Given the description of an element on the screen output the (x, y) to click on. 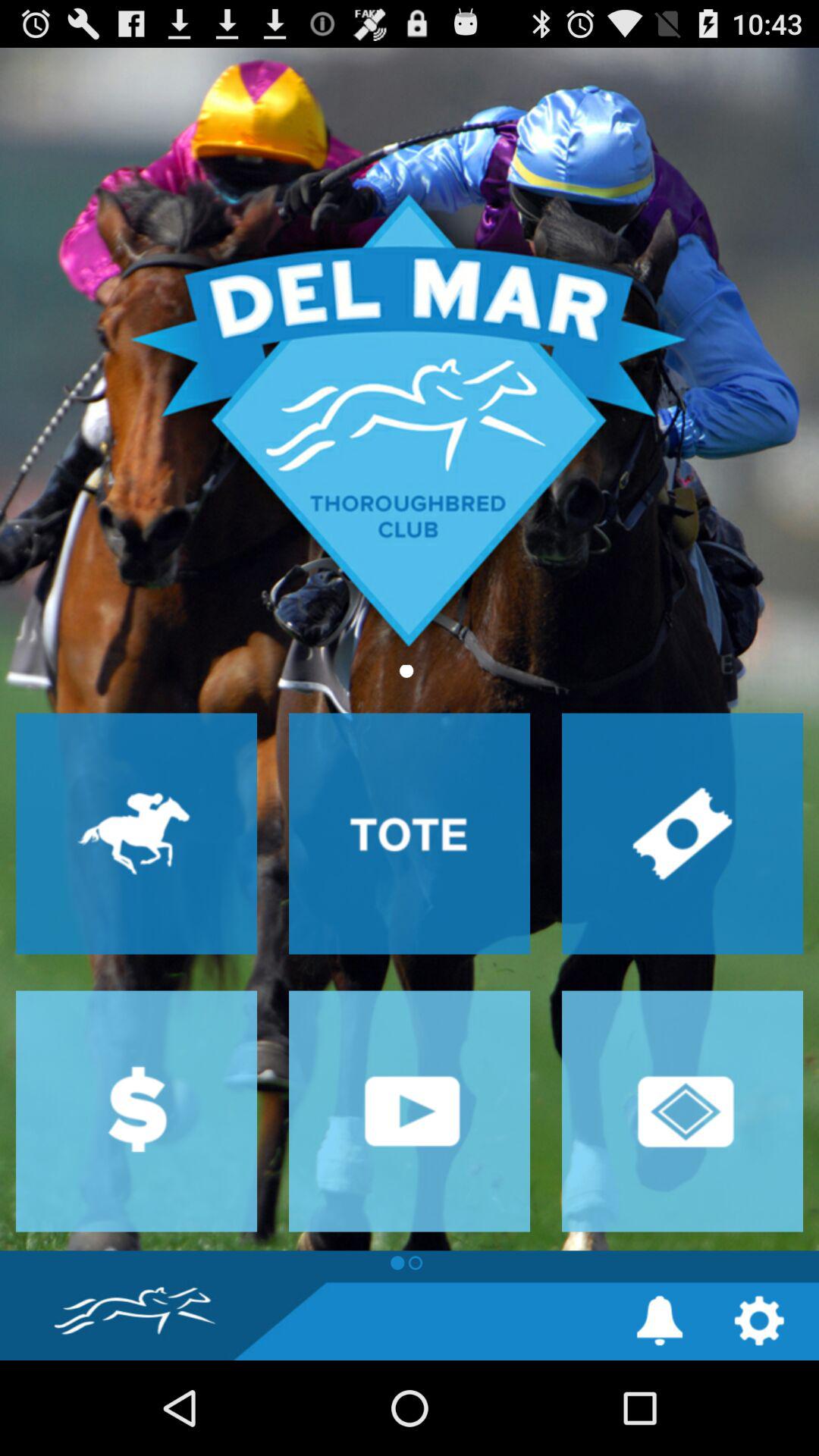
youtube button (409, 1111)
